Given the description of an element on the screen output the (x, y) to click on. 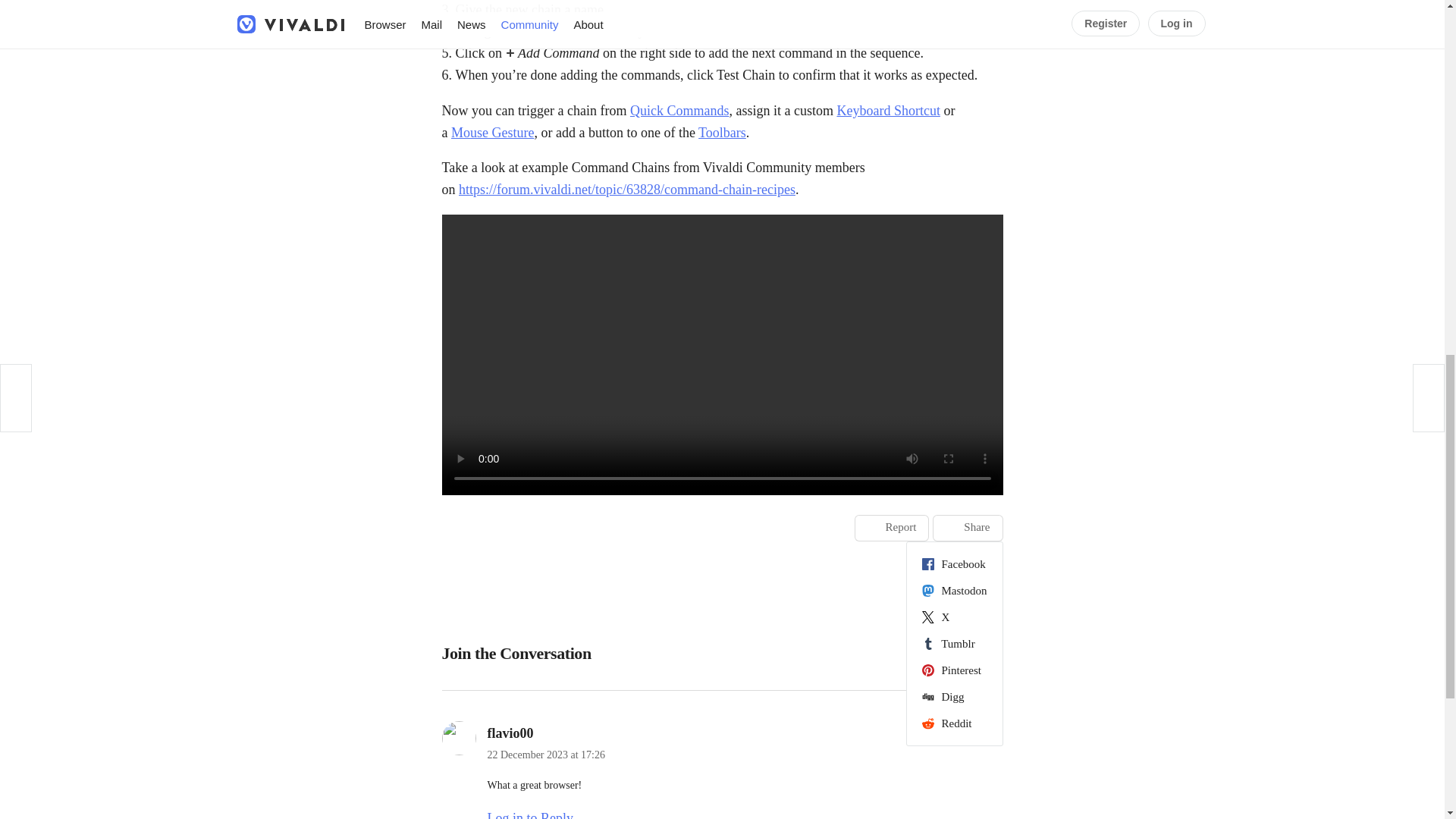
Mastodon (953, 590)
22 December 2023 at 17:26 (545, 754)
Log in to Reply (529, 814)
Quick Commands (679, 110)
Share (968, 528)
Digg (953, 696)
Tumblr (953, 643)
Keyboard Shortcut (887, 110)
Pinterest (953, 670)
Facebook (953, 564)
22 December 2023 at 17:26 (545, 754)
Toolbars (721, 132)
Reddit (953, 723)
Report (892, 528)
Mouse Gesture (492, 132)
